Given the description of an element on the screen output the (x, y) to click on. 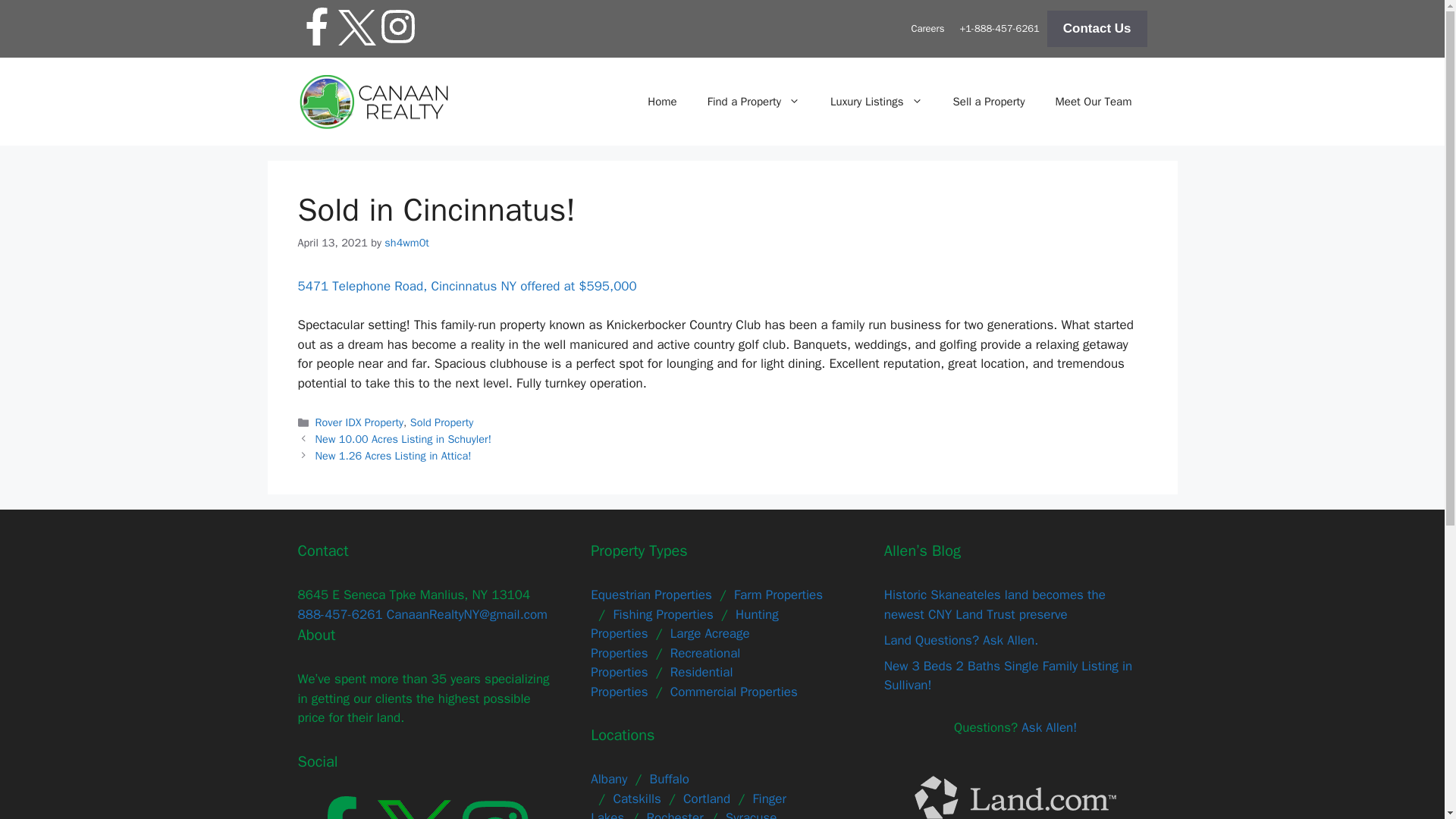
Hunting Properties (684, 624)
Home (661, 101)
Meet Our Team (1094, 101)
Contact Us (1096, 28)
View all posts by sh4wm0t (406, 242)
Fishing Properties (662, 614)
Equestrian Properties (651, 594)
Contact Us (1096, 29)
Recreational Properties (665, 662)
Sell a Property (989, 101)
